Given the description of an element on the screen output the (x, y) to click on. 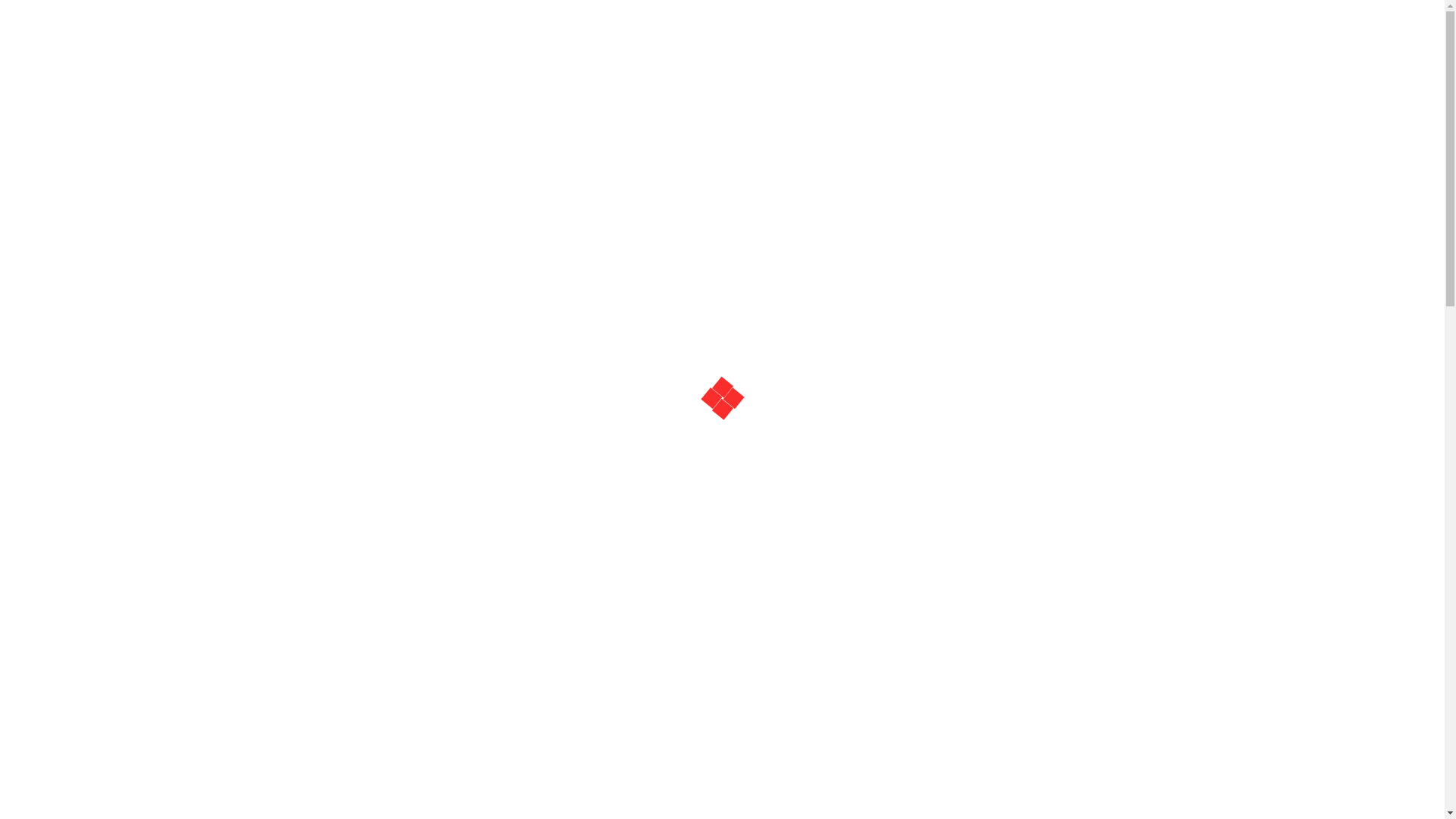
MKK Virtual Dojo Element type: text (385, 329)
LINKS Element type: text (760, 121)
CONTACT Element type: text (837, 121)
LOCATIONS Element type: text (679, 121)
HOME Element type: text (596, 121)
